Given the description of an element on the screen output the (x, y) to click on. 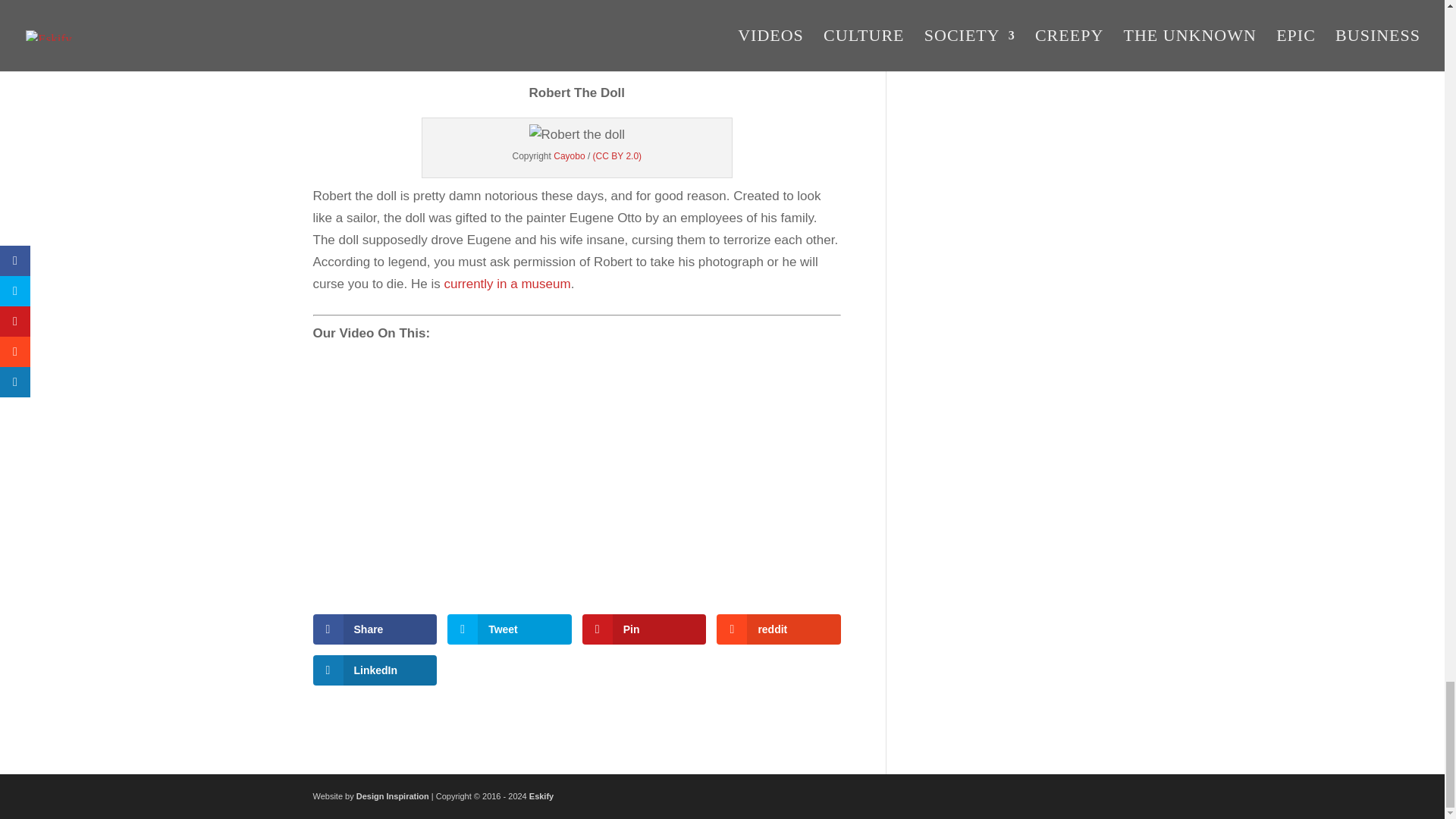
Eskify (541, 795)
Cayobo (569, 155)
currently in a museum (507, 283)
Pin (644, 629)
Design Inspiration (392, 795)
Tweet (509, 629)
LinkedIn (374, 670)
reddit (778, 629)
Share (374, 629)
